Given the description of an element on the screen output the (x, y) to click on. 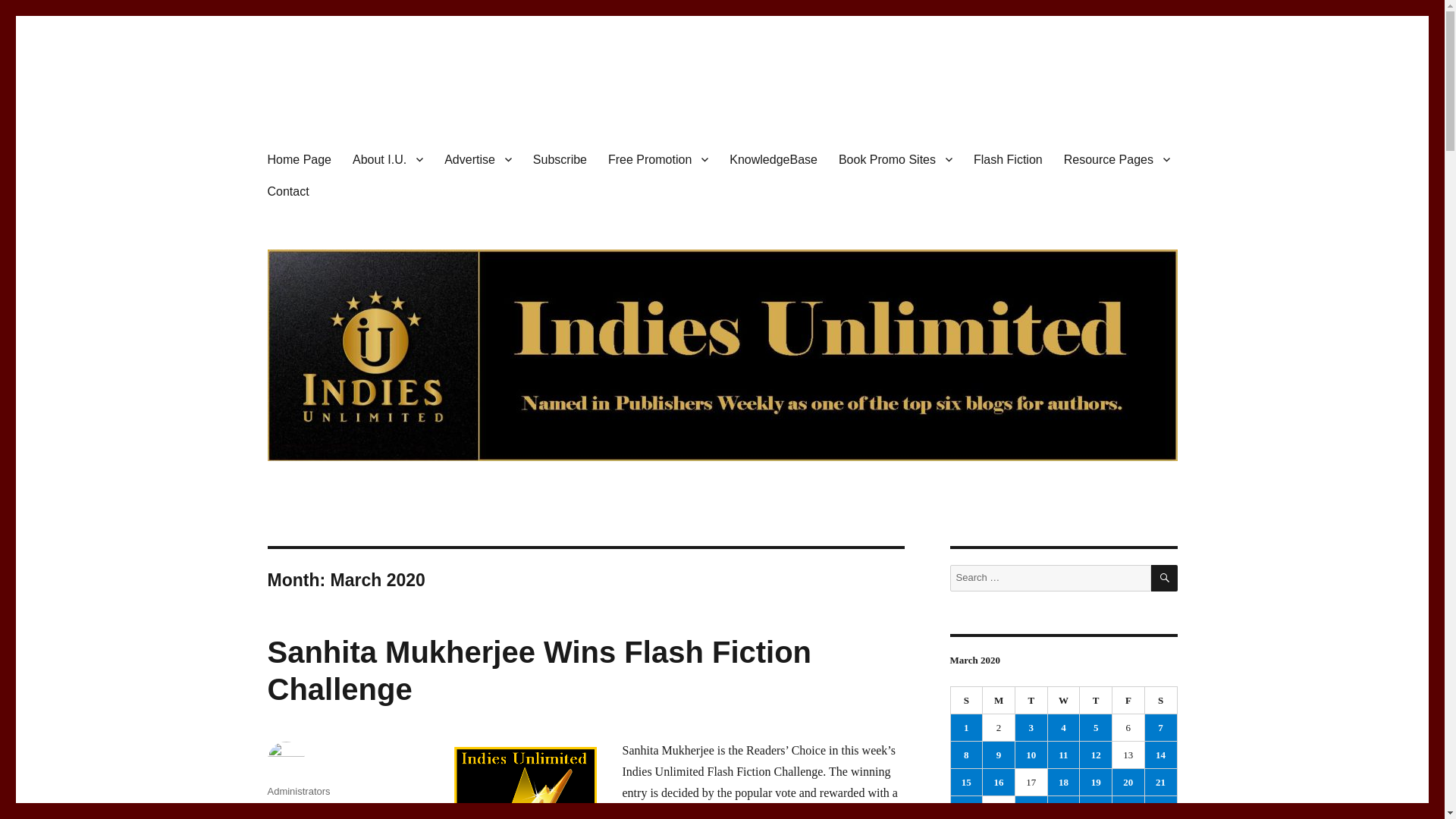
Advertise (477, 159)
Book Promo Sites (895, 159)
Free Promotion (657, 159)
Resource Pages (1116, 159)
Flash Fiction Star (523, 781)
KnowledgeBase (773, 159)
Home Page (299, 159)
Indies Unlimited (348, 114)
Flash Fiction (1007, 159)
About I.U. (387, 159)
Subscribe (559, 159)
